Given the description of an element on the screen output the (x, y) to click on. 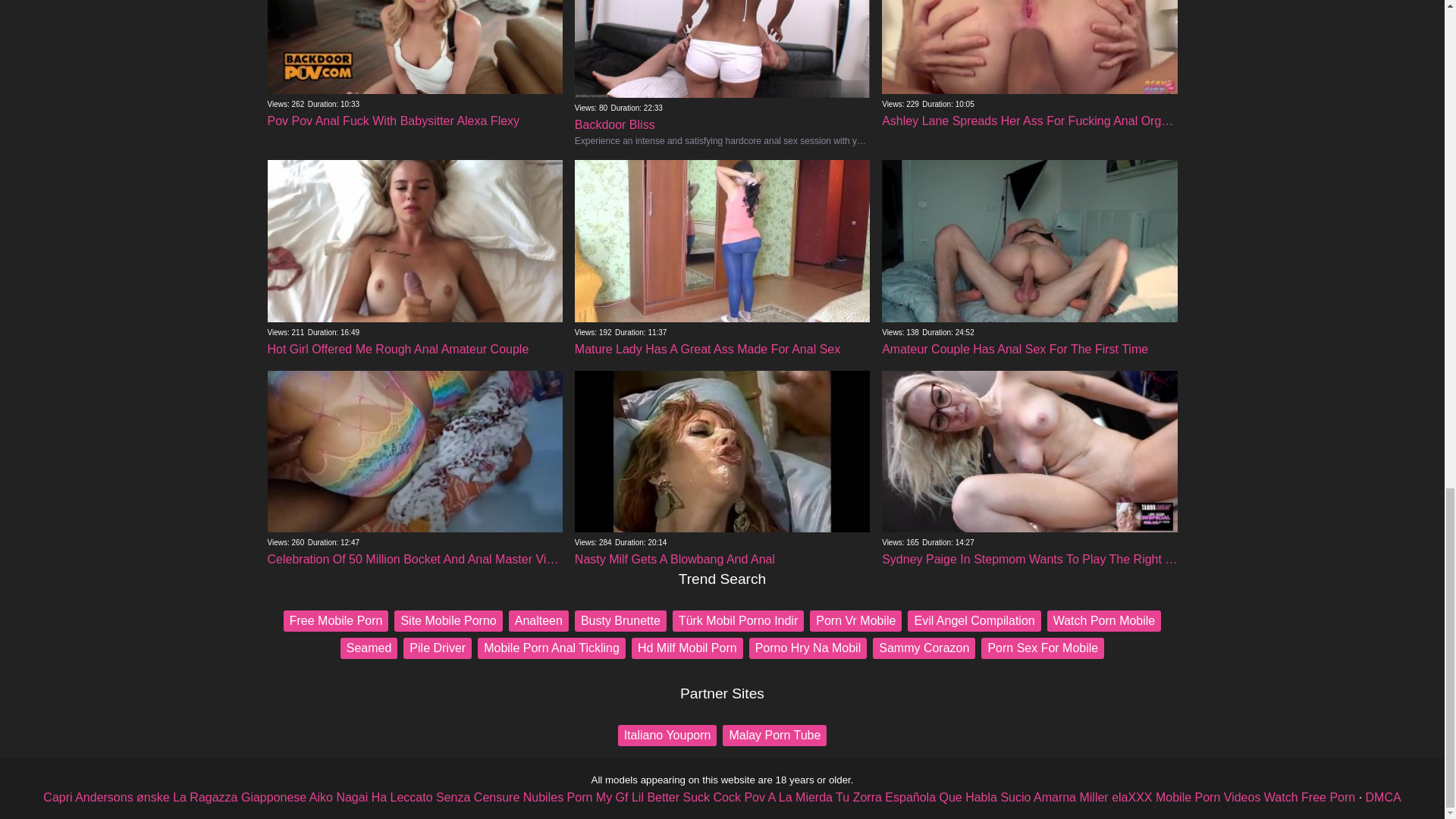
Pov  Pov Anal Fuck With Babysitter Alexa Flexy (414, 67)
Sammy Corazon (923, 648)
Hd Milf Mobil Porn (686, 648)
Porno Hry Na Mobil (808, 648)
Ashley Lane Spreads Her Ass For Fucking Anal Orgasm (1029, 67)
Watch Porn Mobile (1103, 620)
Backdoor Bliss (722, 77)
